Given the description of an element on the screen output the (x, y) to click on. 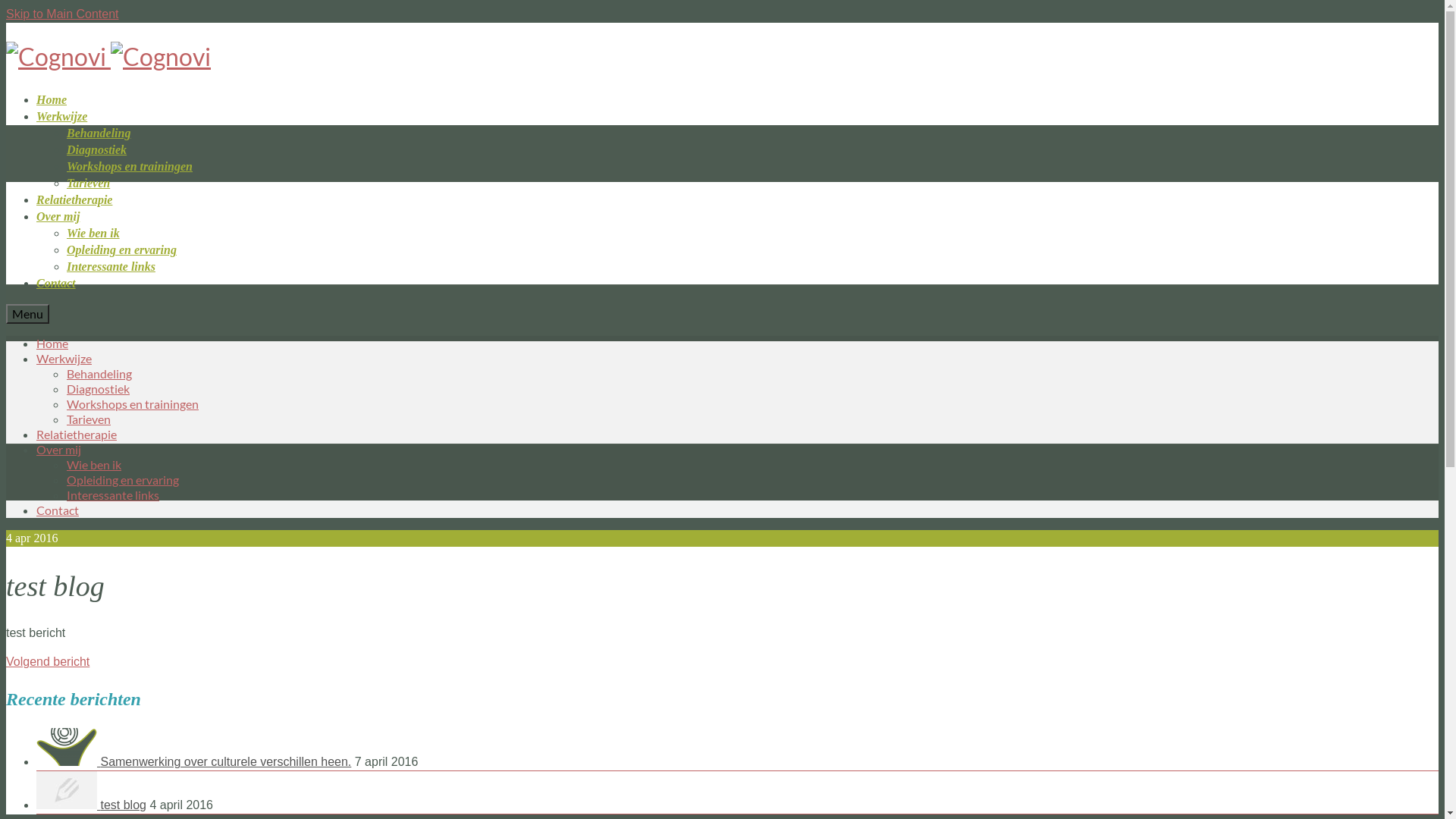
Werkwijze Element type: text (61, 115)
Volgend bericht Element type: text (47, 661)
Diagnostiek Element type: text (96, 149)
Home Element type: text (51, 99)
Interessante links Element type: text (112, 494)
Relatietherapie Element type: text (74, 199)
Samenwerking over culturele verschillen heen. Element type: hover (68, 761)
Tarieven Element type: text (87, 182)
Over mij Element type: text (57, 216)
Contact Element type: text (55, 282)
Contact Element type: text (57, 509)
Interessante links Element type: text (110, 266)
Samenwerking over culturele verschillen heen. Element type: text (225, 761)
Home Element type: text (52, 342)
Menu Element type: text (27, 313)
Workshops en trainingen Element type: text (132, 403)
Tarieven Element type: text (88, 418)
Wie ben ik Element type: text (93, 464)
Skip to Main Content Element type: text (62, 13)
Wie ben ik Element type: text (92, 232)
Diagnostiek Element type: text (97, 388)
test blog Element type: text (122, 804)
test blog Element type: hover (68, 804)
Opleiding en ervaring Element type: text (122, 479)
Behandeling Element type: text (98, 373)
Workshops en trainingen Element type: text (129, 166)
Opleiding en ervaring Element type: text (121, 249)
Over mij Element type: text (58, 449)
Relatietherapie Element type: text (76, 433)
Werkwijze Element type: text (63, 358)
Behandeling Element type: text (98, 132)
